Given the description of an element on the screen output the (x, y) to click on. 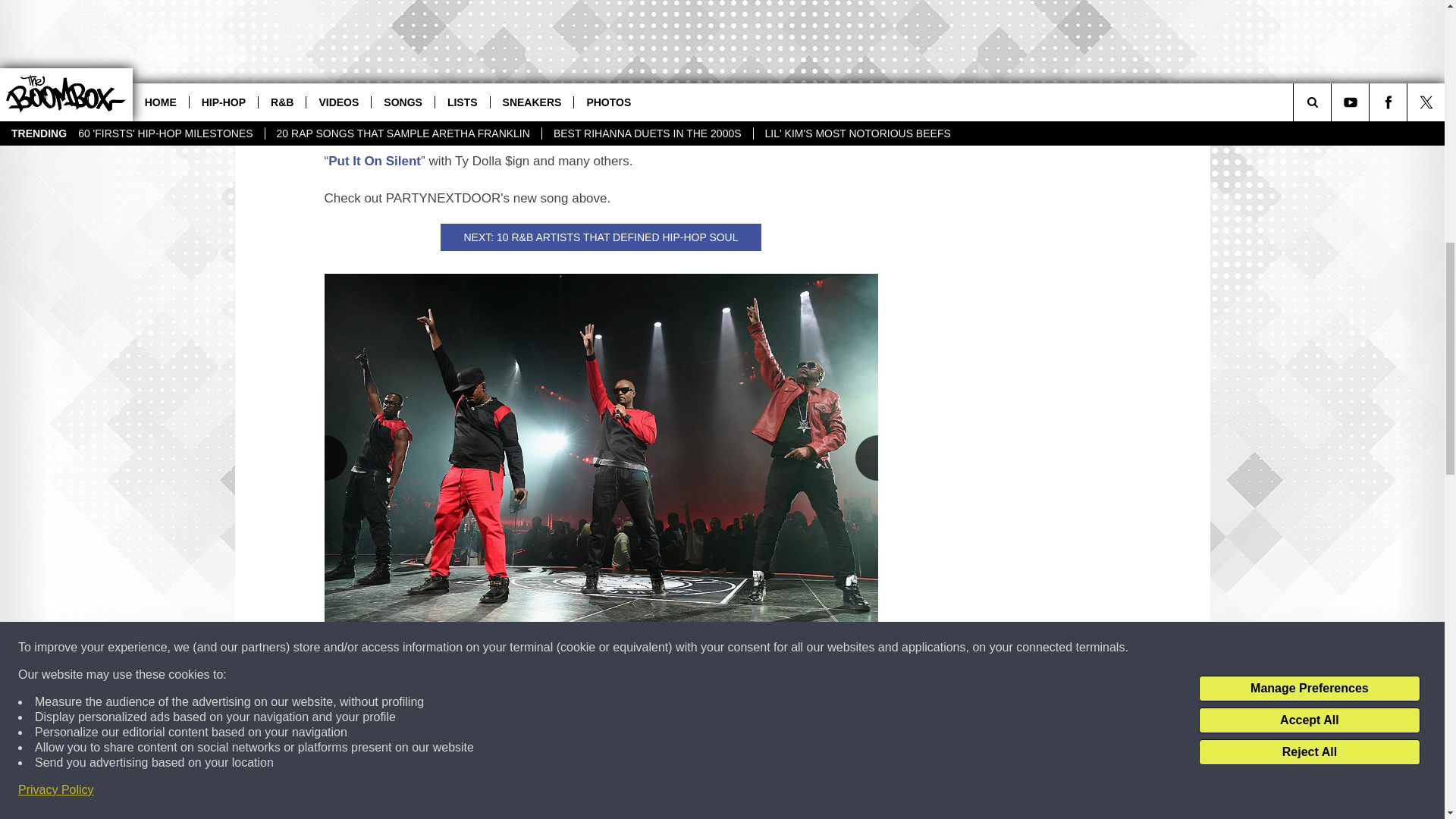
Put It On Silent (374, 160)
her bedside following her suicide attempt last year (537, 4)
Rain (595, 135)
Songs (428, 739)
PARTYNEXTDOOR (435, 715)
Cartier (740, 135)
